Given the description of an element on the screen output the (x, y) to click on. 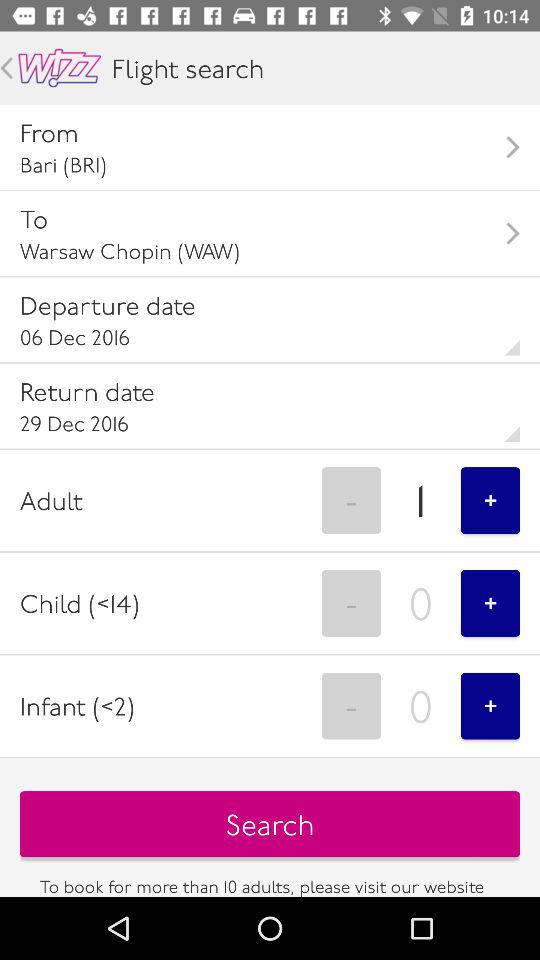
launch the icon to the right of the infant (<2) item (351, 705)
